Given the description of an element on the screen output the (x, y) to click on. 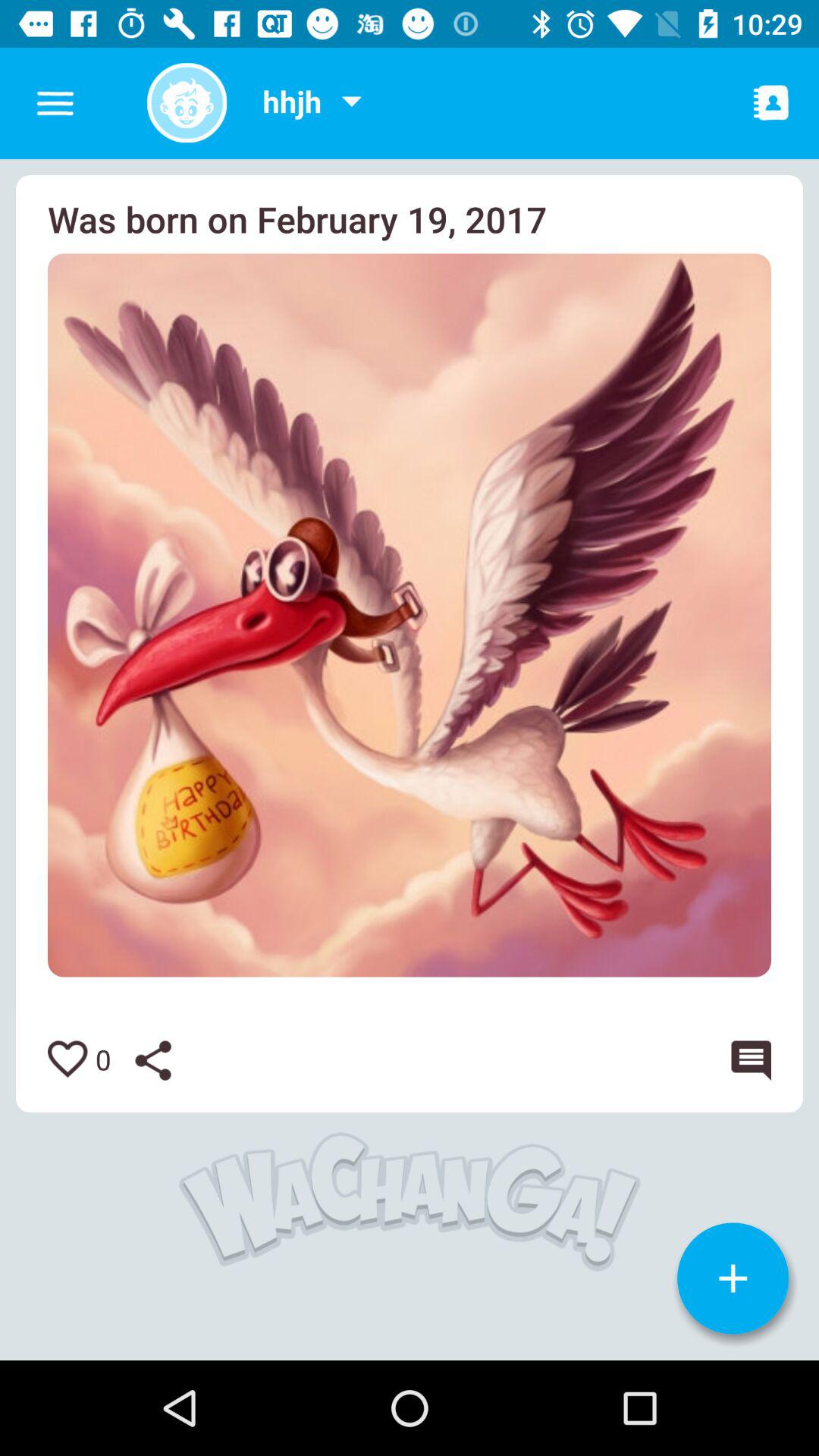
go to profile page photo (186, 102)
